Given the description of an element on the screen output the (x, y) to click on. 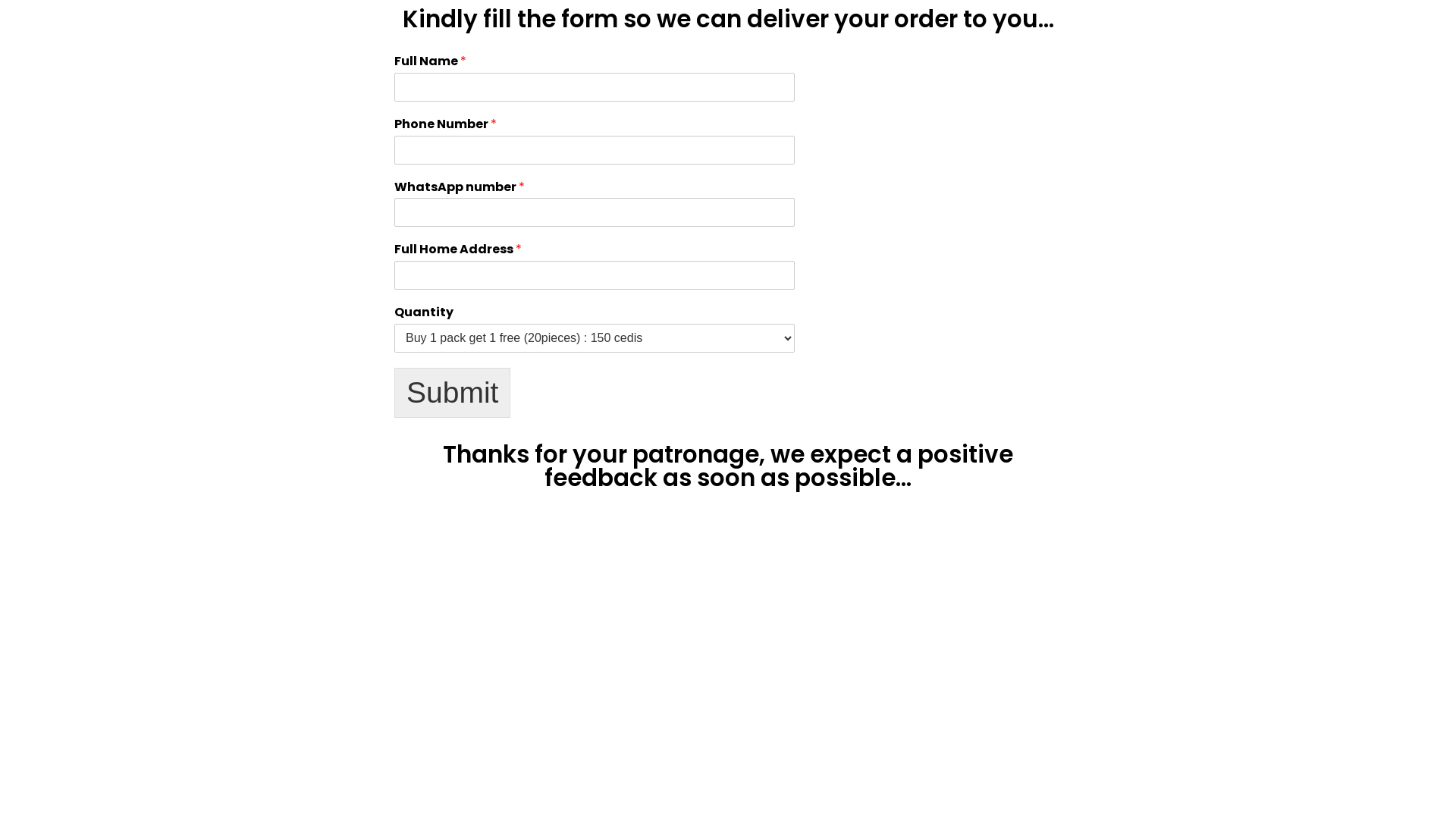
Submit Element type: text (452, 392)
